Given the description of an element on the screen output the (x, y) to click on. 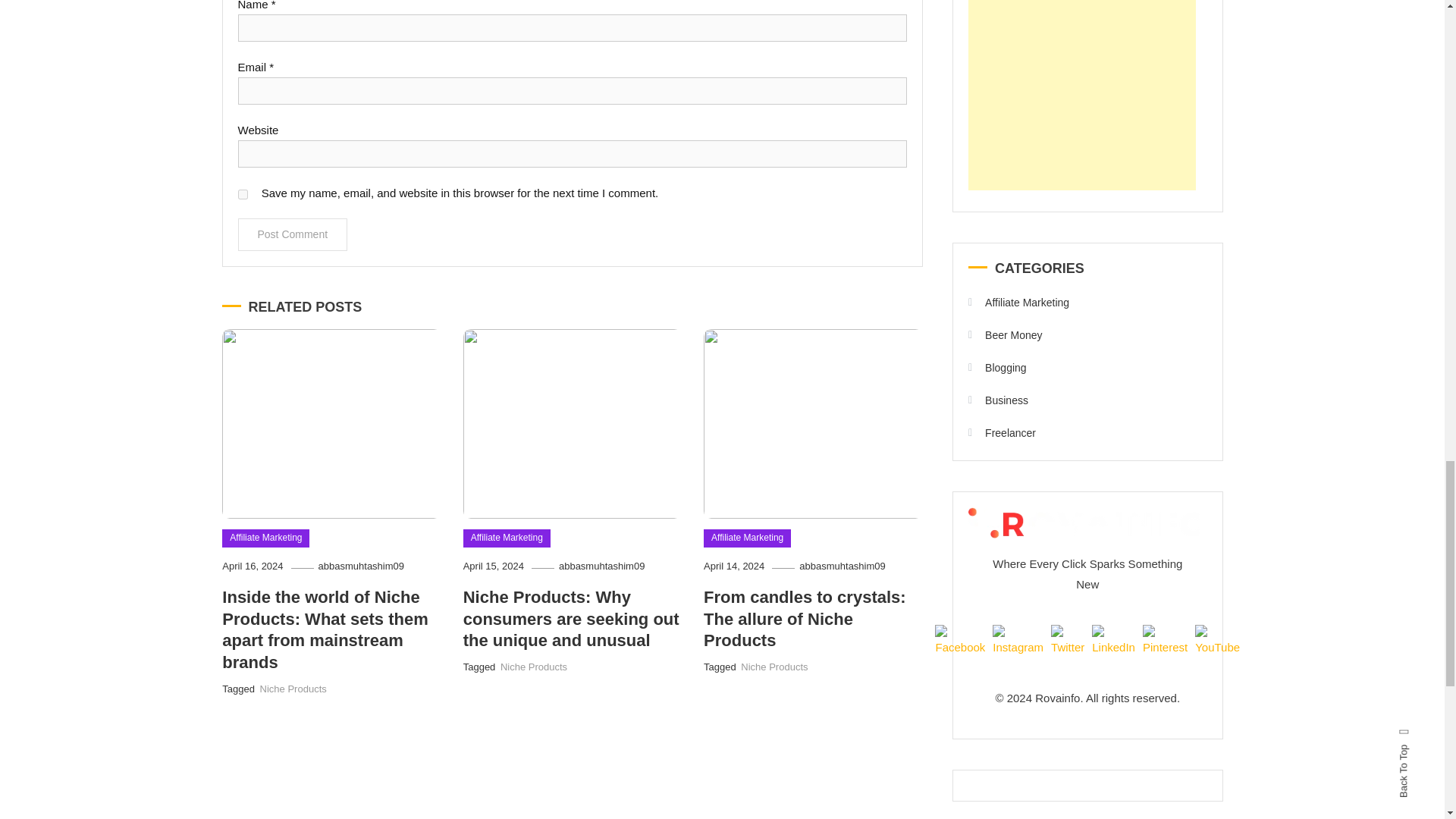
Niche Products (293, 688)
abbasmuhtashim09 (361, 565)
April 14, 2024 (733, 565)
April 15, 2024 (493, 565)
From candles to crystals: The allure of Niche Products (804, 619)
April 16, 2024 (252, 565)
abbasmuhtashim09 (602, 565)
Niche Products (533, 666)
Post Comment (292, 234)
Affiliate Marketing (265, 538)
abbasmuhtashim09 (842, 565)
Affiliate Marketing (746, 538)
Post Comment (292, 234)
